Given the description of an element on the screen output the (x, y) to click on. 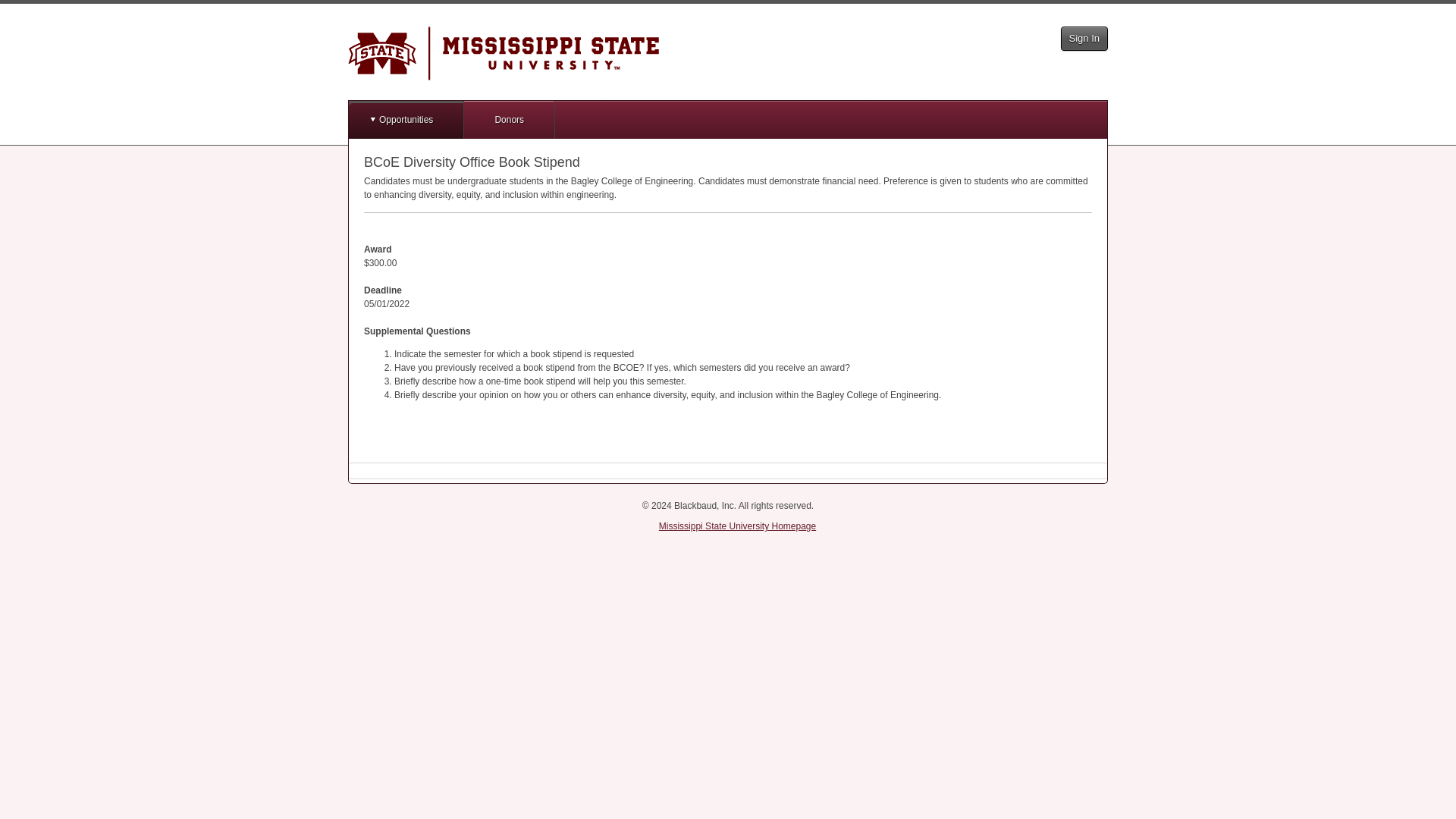
Sign In (1084, 38)
Donors (509, 119)
Mississippi State University Scholarships (503, 53)
Opportunities (406, 119)
Mississippi State University Homepage (737, 525)
